Given the description of an element on the screen output the (x, y) to click on. 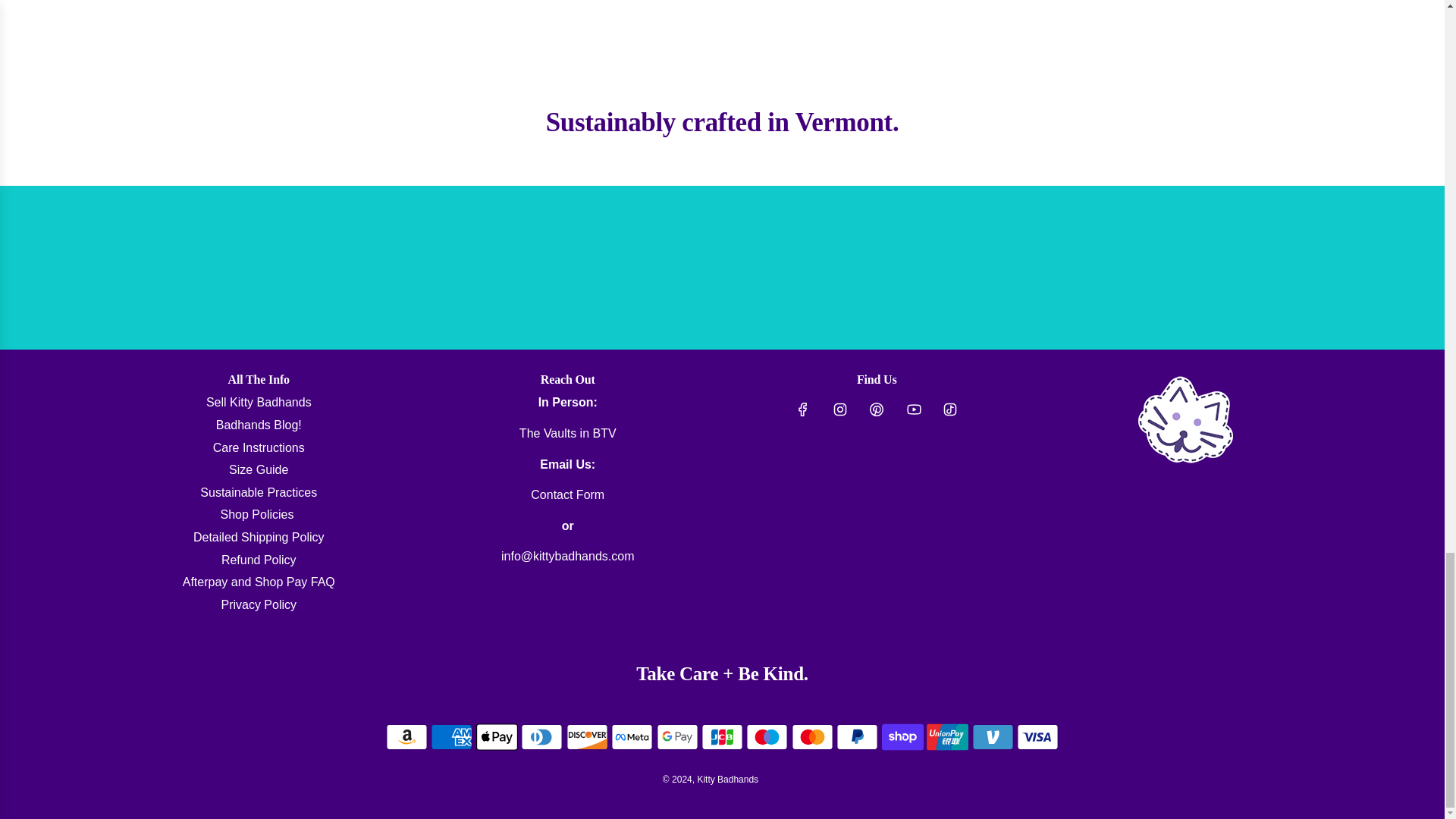
Apple Pay (497, 736)
Our Location (567, 432)
Amazon (406, 736)
American Express (450, 736)
Meta Pay (631, 736)
Maestro (766, 736)
JCB (721, 736)
Mastercard (812, 736)
Contact (567, 494)
Diners Club (541, 736)
Google Pay (677, 736)
Discover (587, 736)
